Given the description of an element on the screen output the (x, y) to click on. 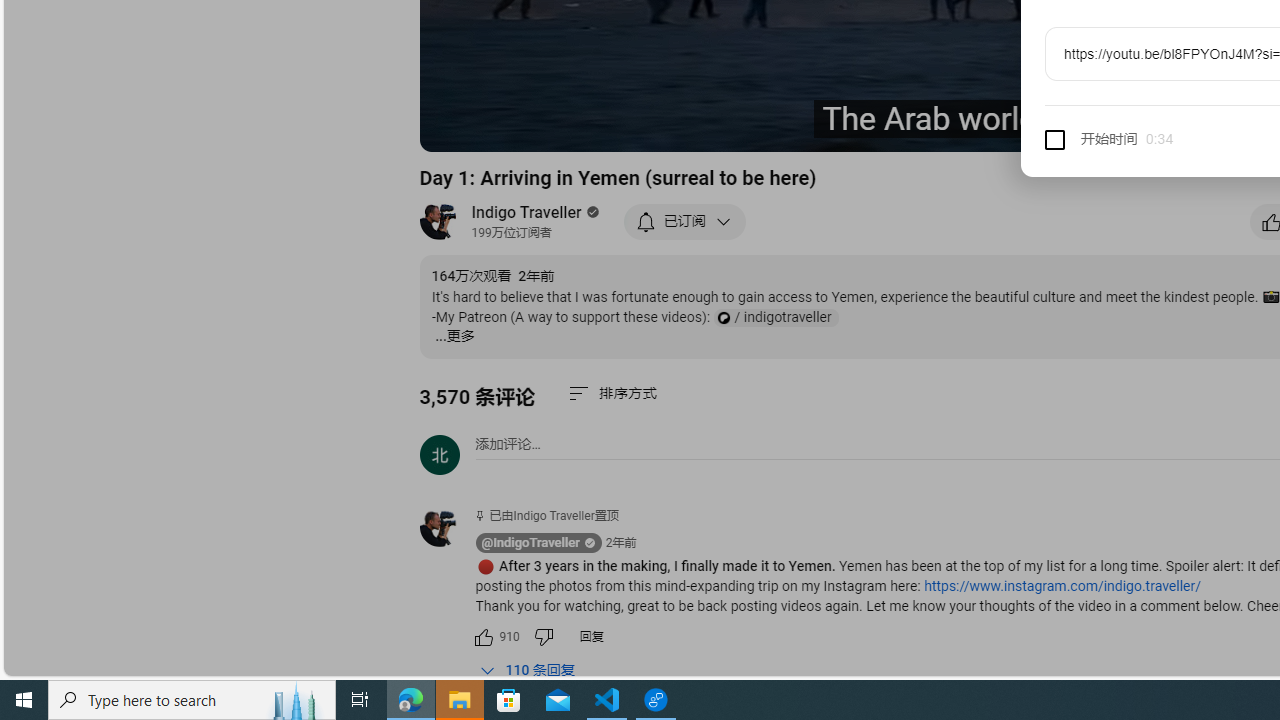
Class: style-scope tp-yt-paper-input (1170, 139)
Patreon Channel Link: indigotraveller (775, 318)
@IndigoTraveller (530, 543)
Intro (683, 127)
